Given the description of an element on the screen output the (x, y) to click on. 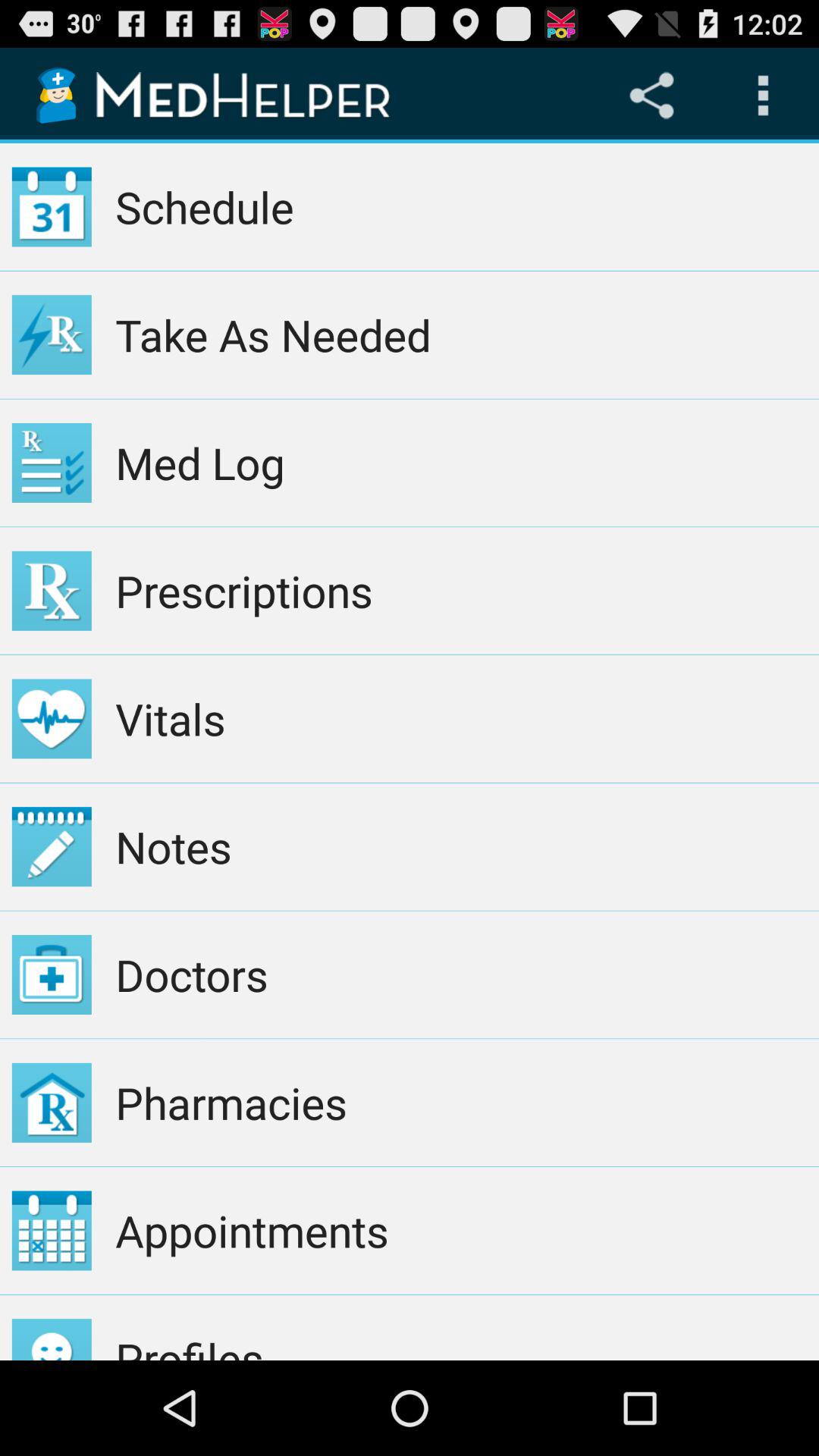
click the icon below appointments icon (461, 1327)
